Given the description of an element on the screen output the (x, y) to click on. 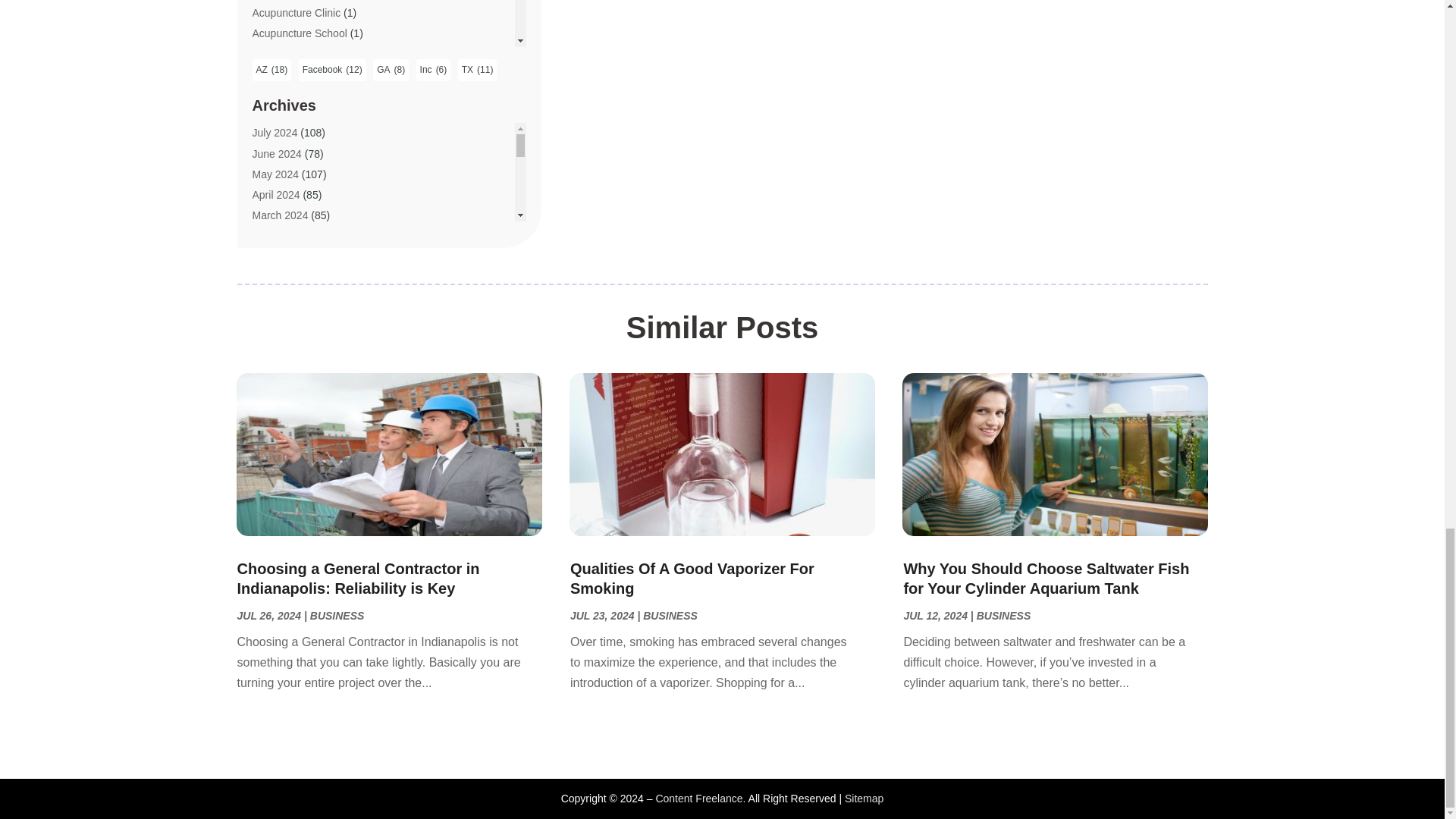
Acupuncture Clinic (295, 12)
Air Conditioning (288, 136)
Addiction Treatment (298, 53)
Aircraft (268, 197)
Acupuncture School (298, 33)
Aircraft GSE (281, 218)
Agricultural Service (297, 94)
Air Quality Control System (313, 177)
Adoption (272, 73)
Air Conditioning Contractors (317, 156)
Agriculture And Forestry (308, 115)
